Given the description of an element on the screen output the (x, y) to click on. 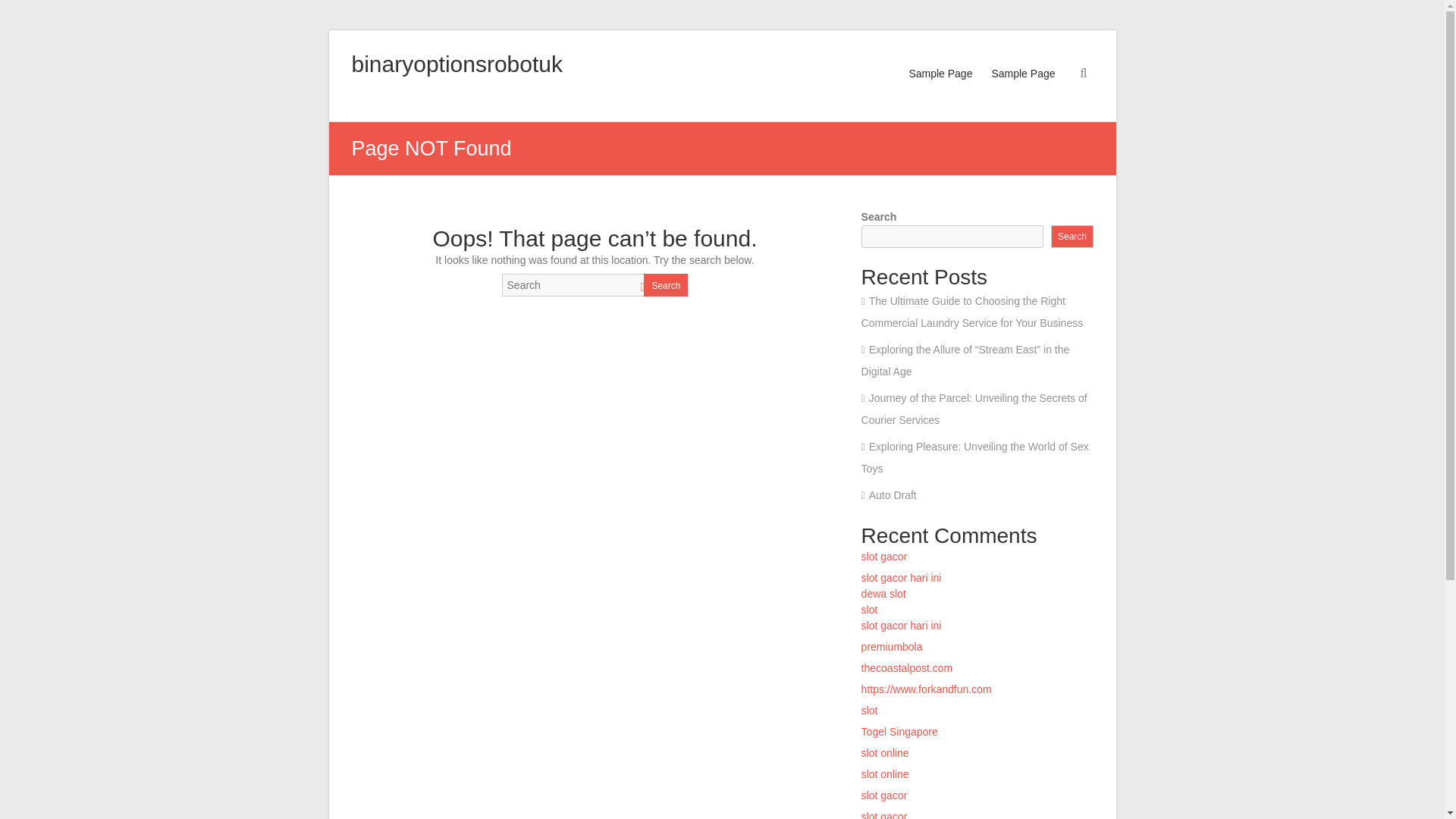
slot gacor hari ini (901, 625)
slot gacor hari ini (901, 577)
Exploring Pleasure: Unveiling the World of Sex Toys (975, 457)
slot gacor (884, 556)
Search (1072, 236)
Sample Page (1022, 87)
Sample Page (940, 87)
dewa slot (883, 593)
slot gacor (884, 814)
slot online (884, 774)
premiumbola (892, 646)
slot gacor (884, 795)
Search (665, 284)
